Given the description of an element on the screen output the (x, y) to click on. 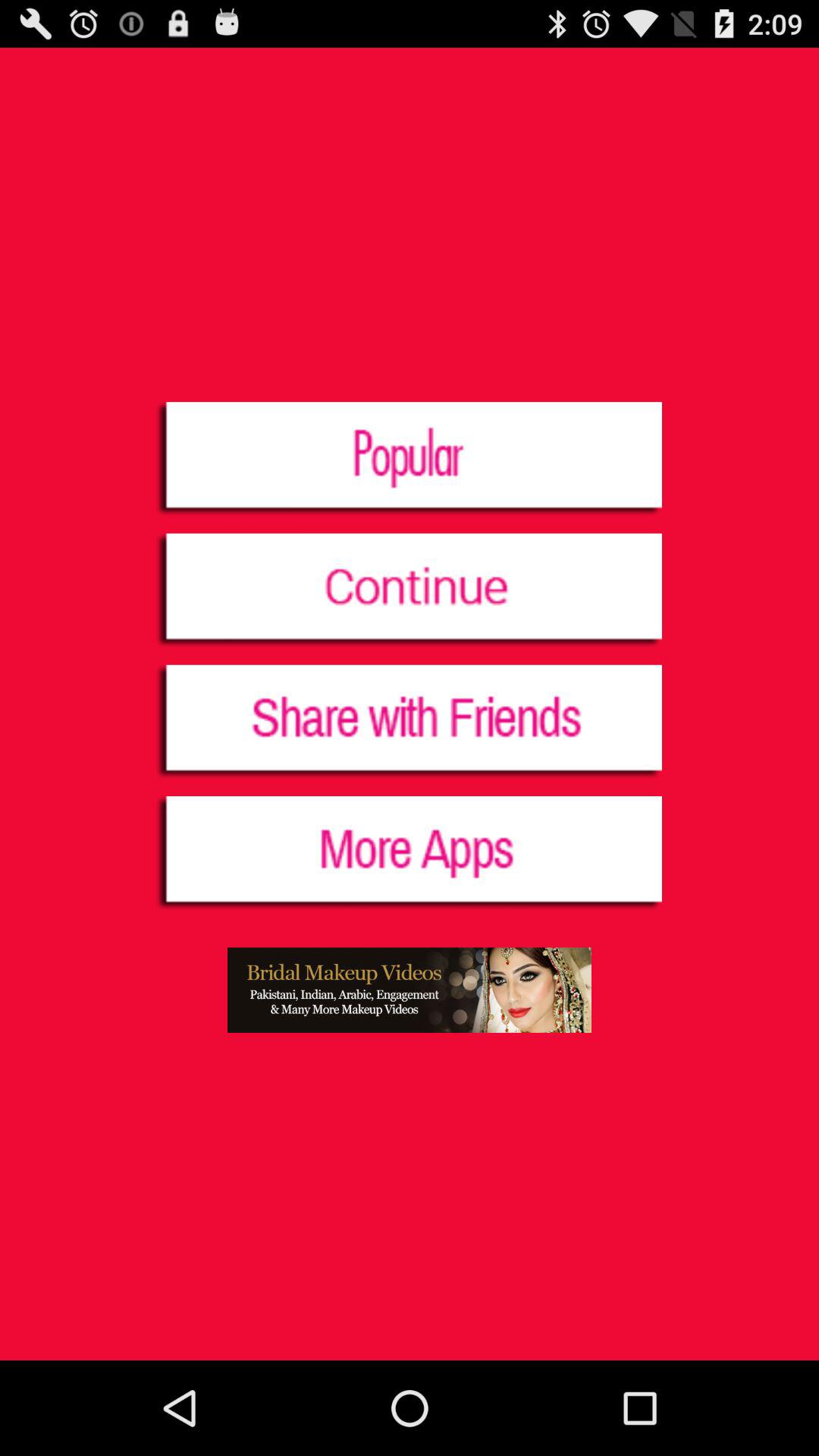
display more applications (409, 853)
